Given the description of an element on the screen output the (x, y) to click on. 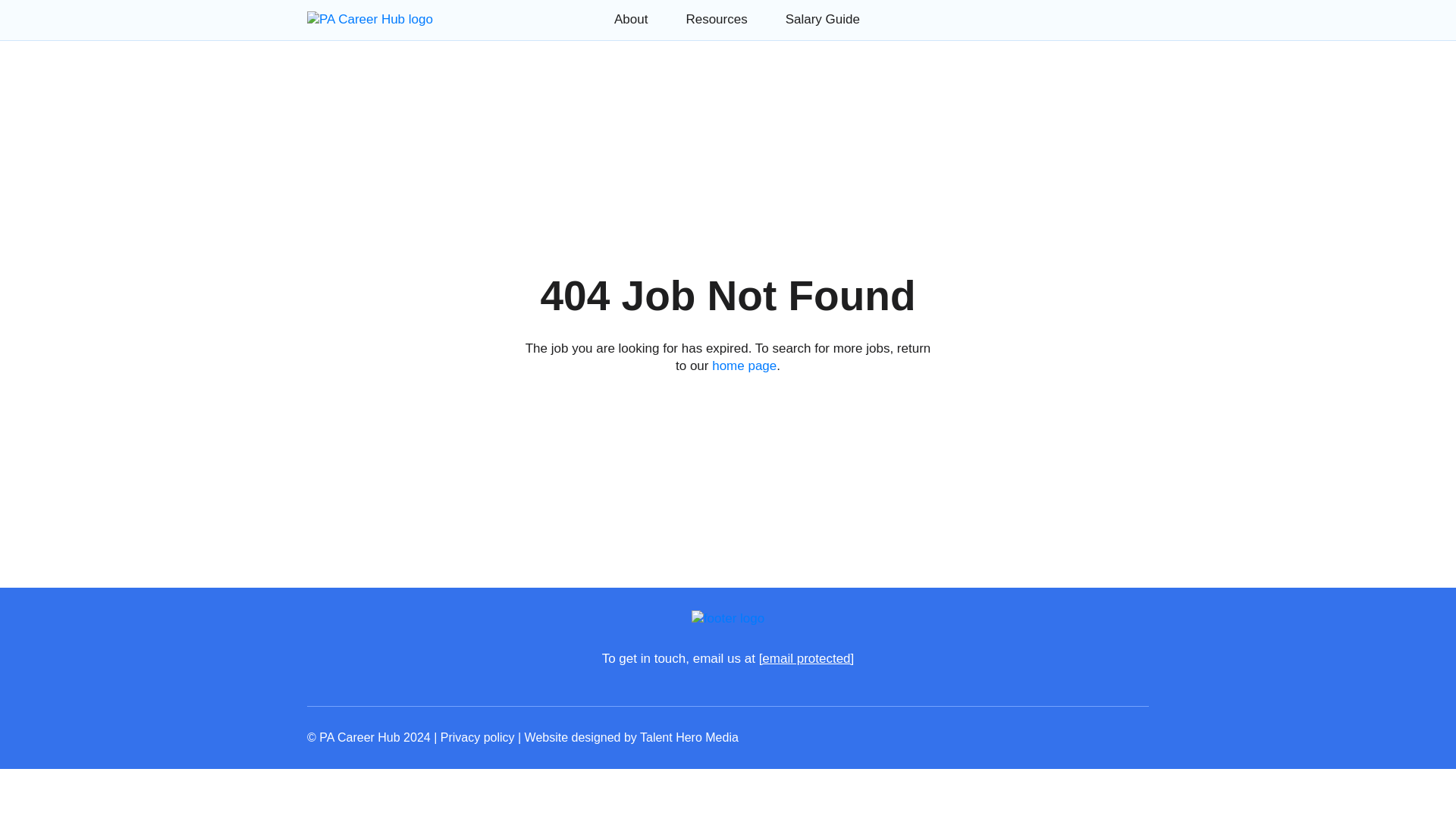
home page (743, 365)
About (630, 19)
Search (196, 82)
Resources (715, 19)
Salary Guide (823, 19)
